Given the description of an element on the screen output the (x, y) to click on. 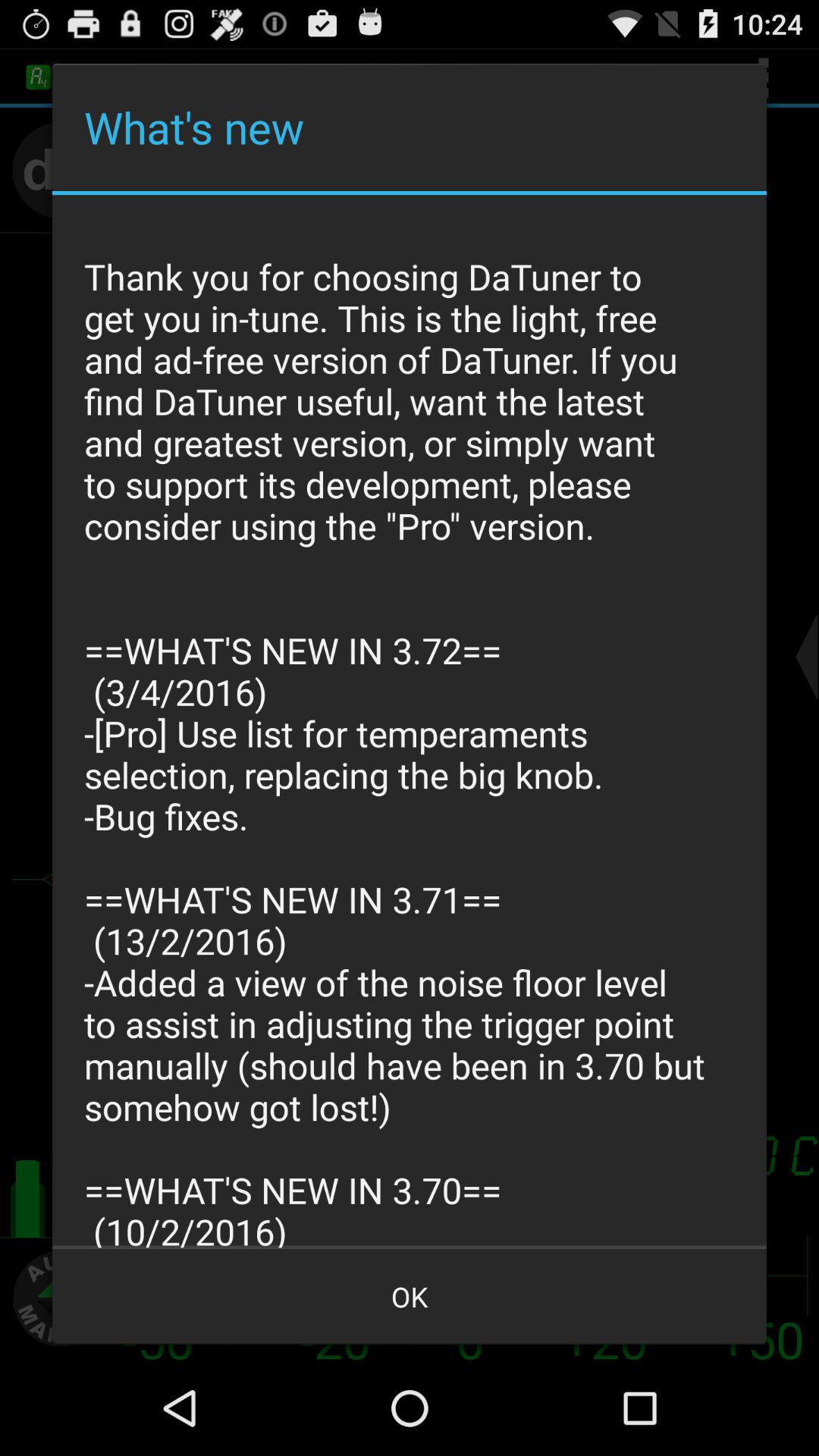
turn off the ok at the bottom (409, 1296)
